Given the description of an element on the screen output the (x, y) to click on. 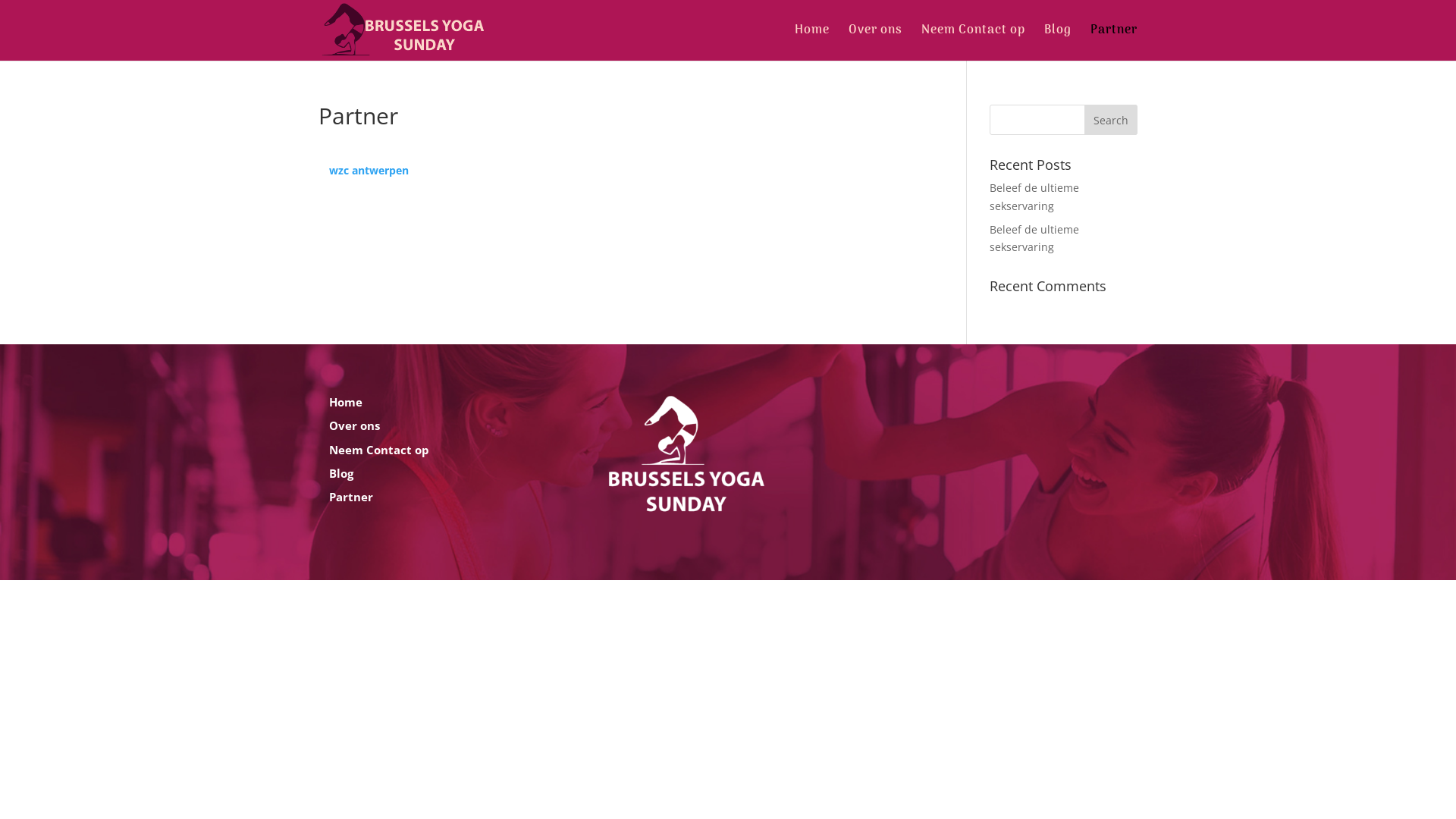
Home Element type: text (811, 42)
Partner Element type: text (351, 496)
Home Element type: text (345, 401)
Neem Contact op Element type: text (379, 449)
Blog Element type: text (1057, 42)
Partner Element type: text (1113, 42)
Search Element type: text (1110, 119)
Beleef de ultieme sekservaring Element type: text (1034, 196)
Blog Element type: text (341, 472)
Over ons Element type: text (354, 425)
Over ons Element type: text (875, 42)
wzc antwerpen Element type: text (368, 170)
Beleef de ultieme sekservaring Element type: text (1034, 238)
Neem Contact op Element type: text (973, 42)
